Given the description of an element on the screen output the (x, y) to click on. 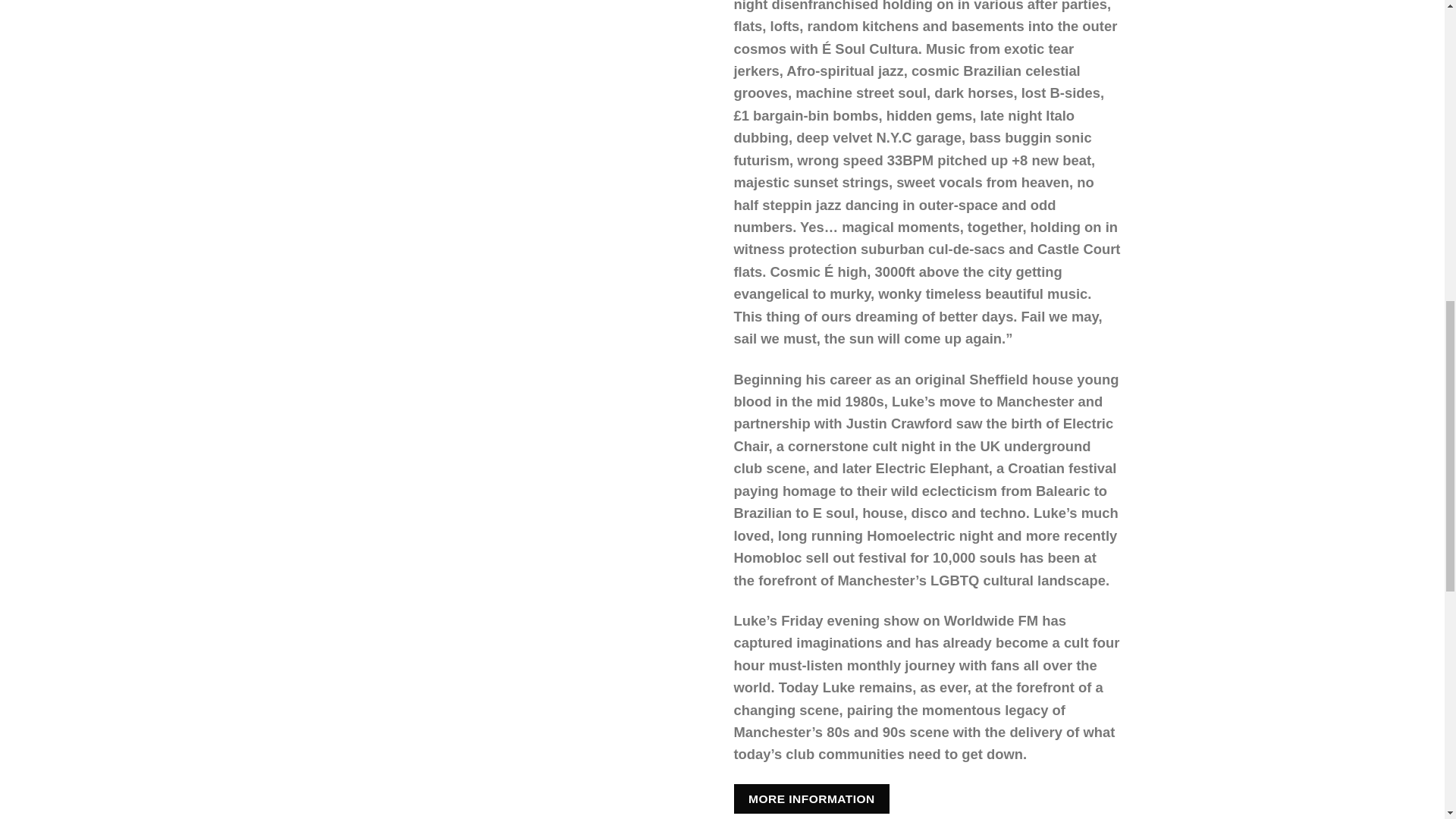
MORE INFORMATION (811, 798)
